Given the description of an element on the screen output the (x, y) to click on. 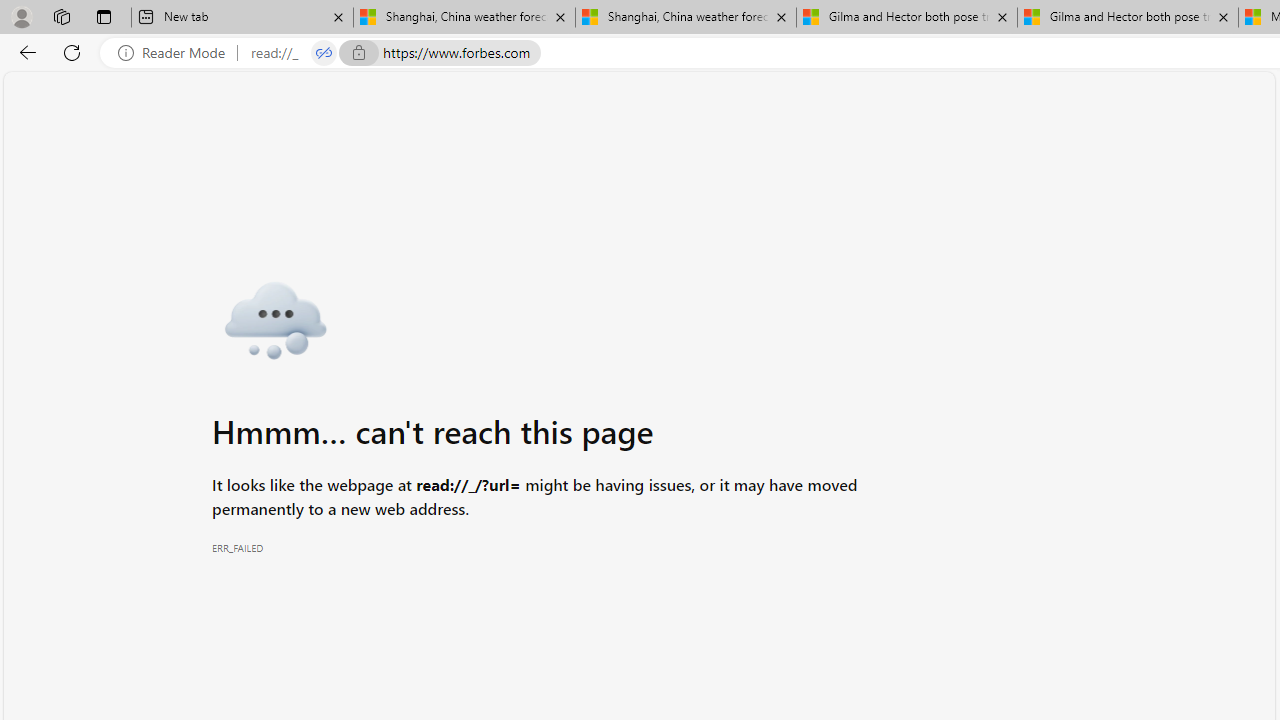
Reader Mode (177, 53)
Gilma and Hector both pose tropical trouble for Hawaii (1127, 17)
Shanghai, China weather forecast | Microsoft Weather (686, 17)
Tabs in split screen (323, 53)
